Given the description of an element on the screen output the (x, y) to click on. 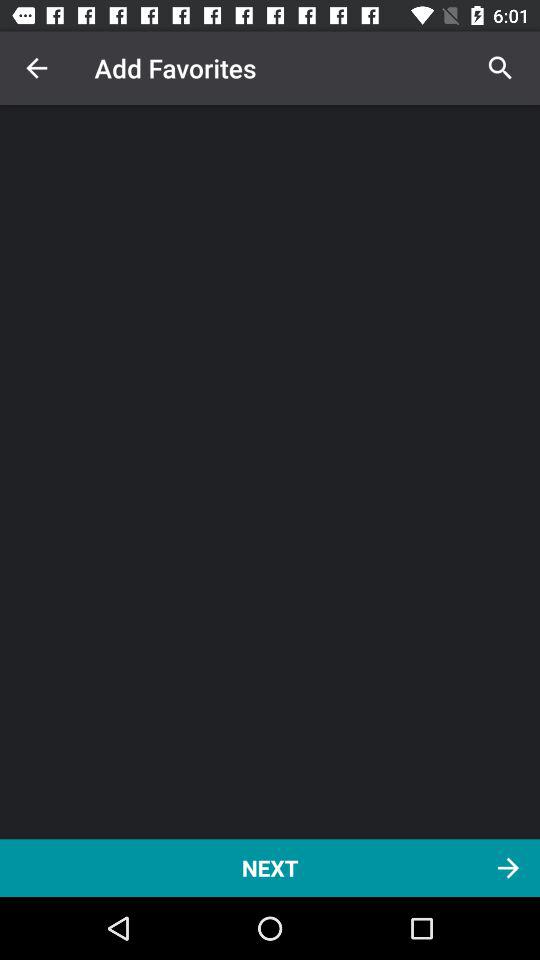
select icon to the left of the add favorites item (36, 68)
